Given the description of an element on the screen output the (x, y) to click on. 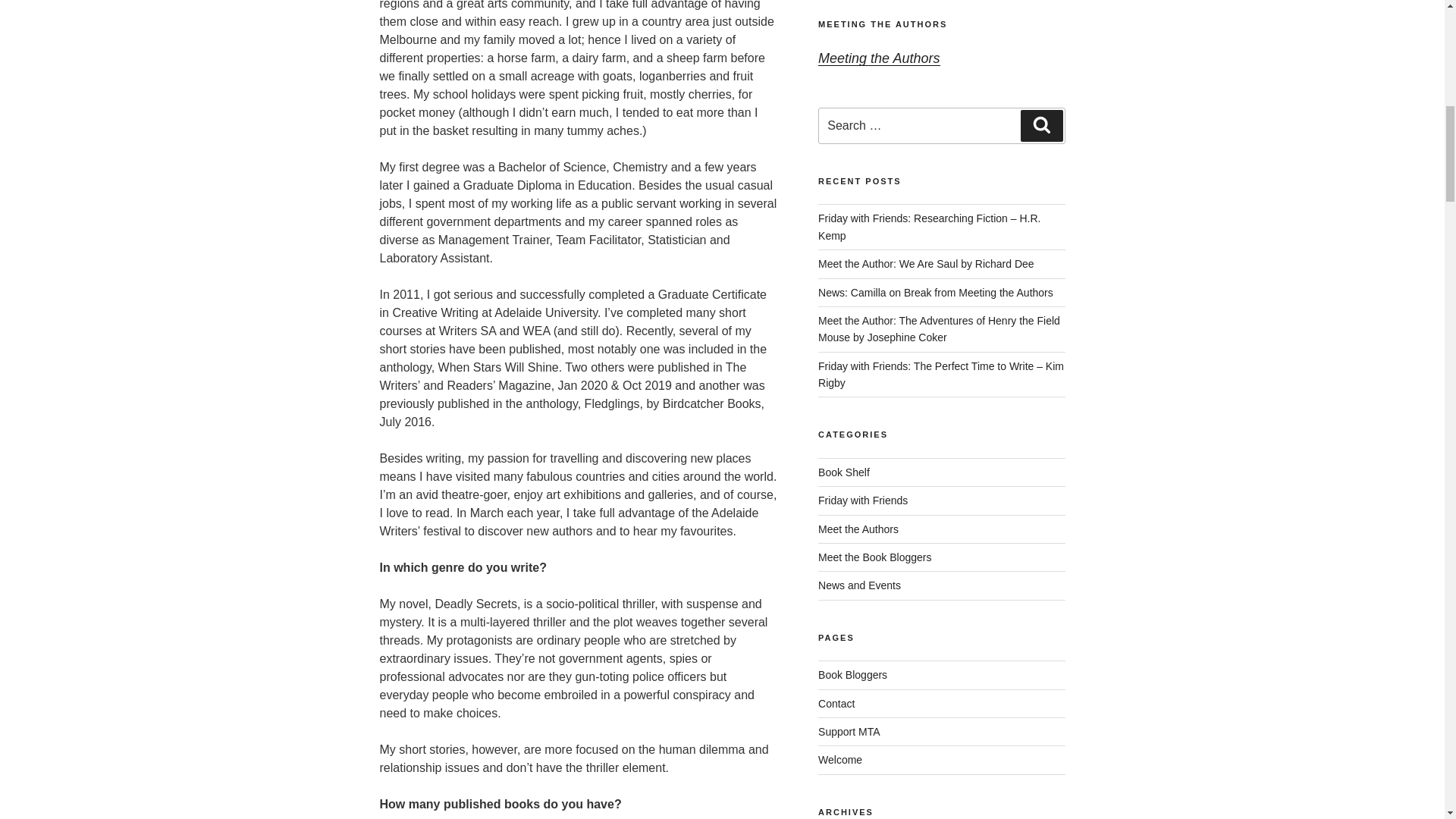
Meet the Authors (858, 529)
Search (1041, 125)
Meeting the Authors (878, 58)
Friday with Friends (862, 500)
Book Shelf (843, 472)
Meet the Book Bloggers (874, 557)
Meet the Author: We Are Saul by Richard Dee (925, 263)
MEETING THE AUTHORS (882, 23)
News: Camilla on Break from Meeting the Authors (935, 292)
